Given the description of an element on the screen output the (x, y) to click on. 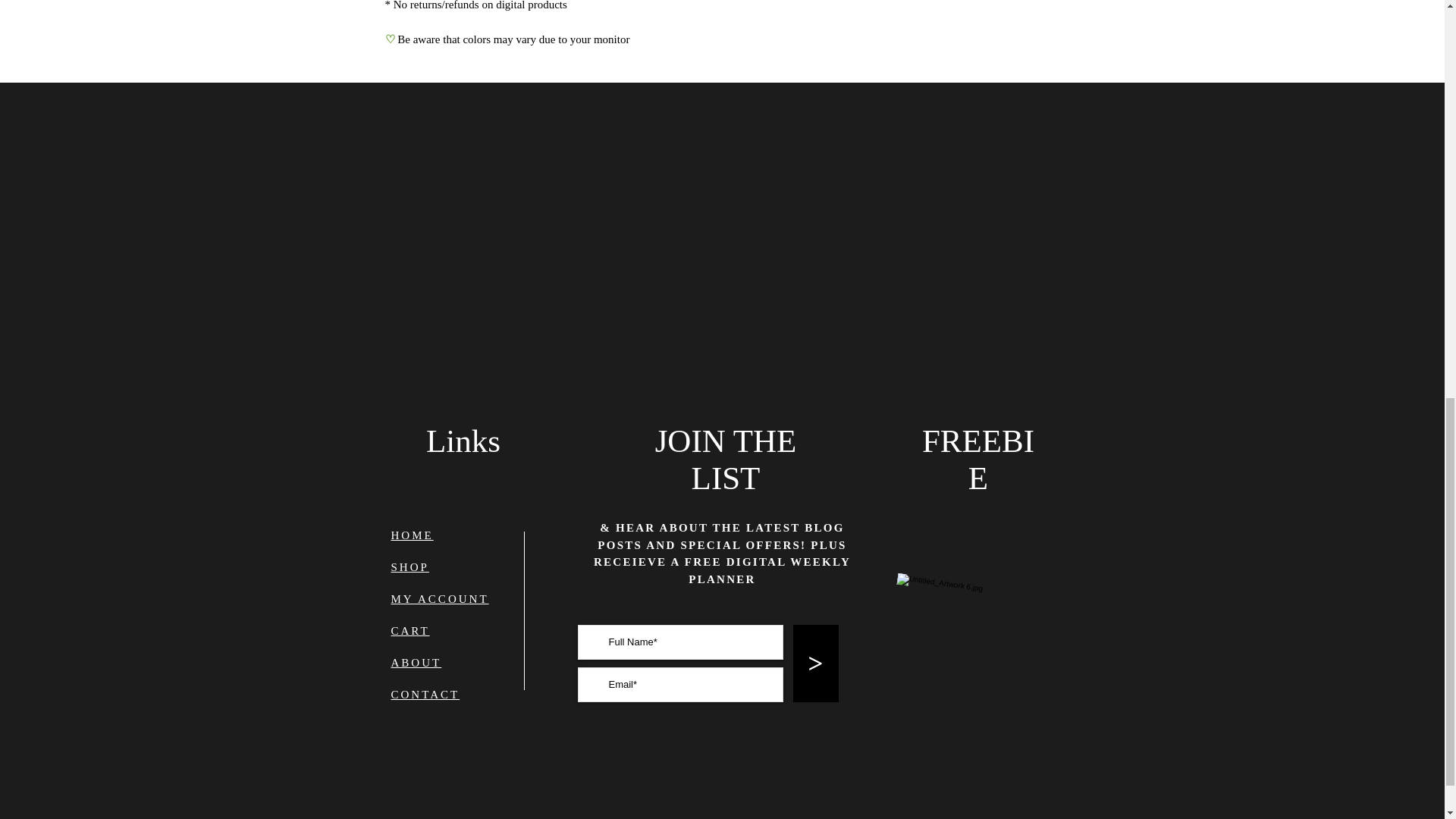
HOME (412, 535)
SHOP (410, 567)
CONTACT (425, 694)
MY ACCOUNT (440, 598)
CART (410, 630)
ABOUT (416, 662)
